Given the description of an element on the screen output the (x, y) to click on. 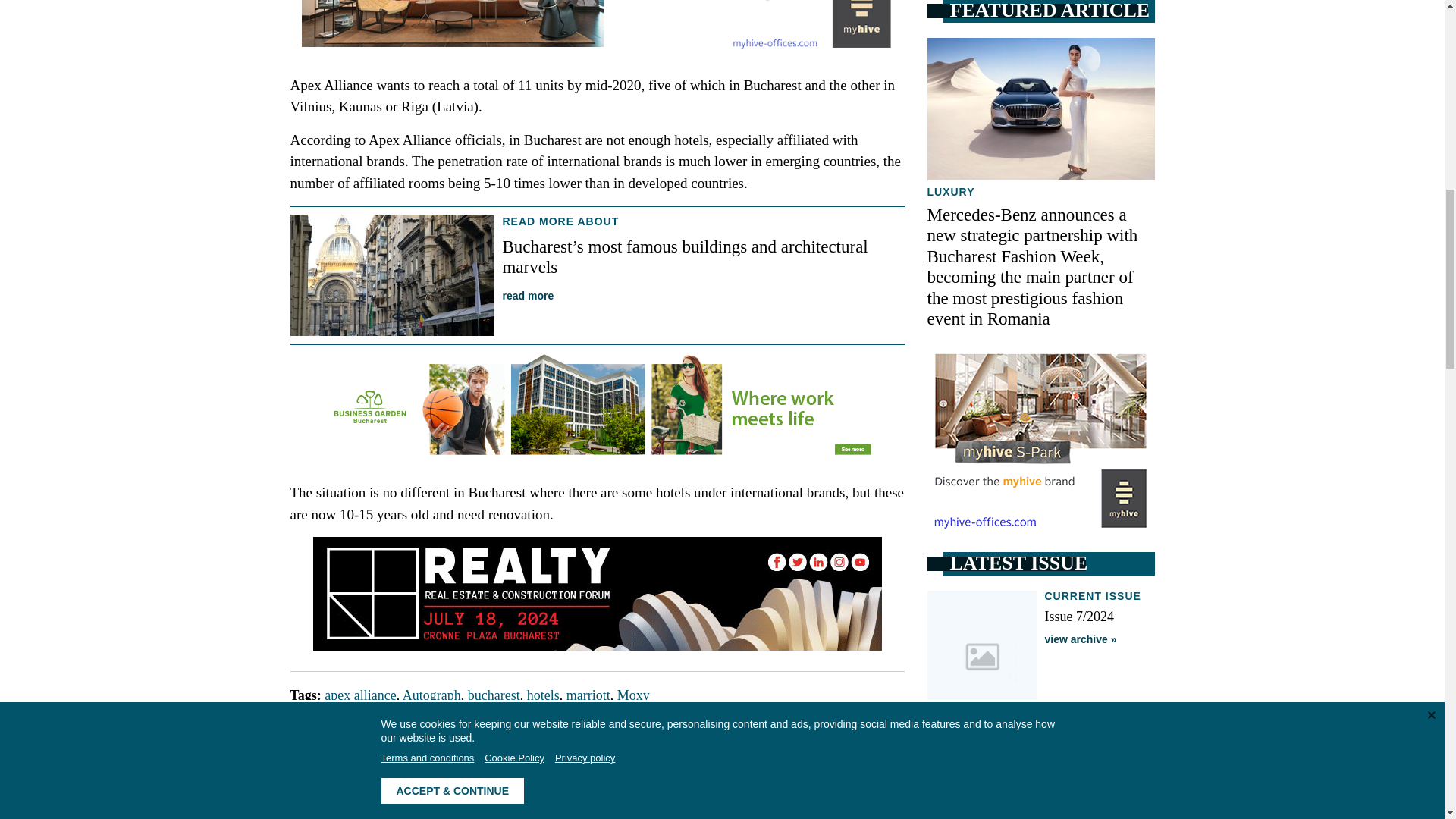
hotels (543, 694)
bucharest (493, 694)
read more (527, 295)
Autograph (432, 694)
marriott (588, 694)
Moxy (633, 694)
apex alliance (360, 694)
